Given the description of an element on the screen output the (x, y) to click on. 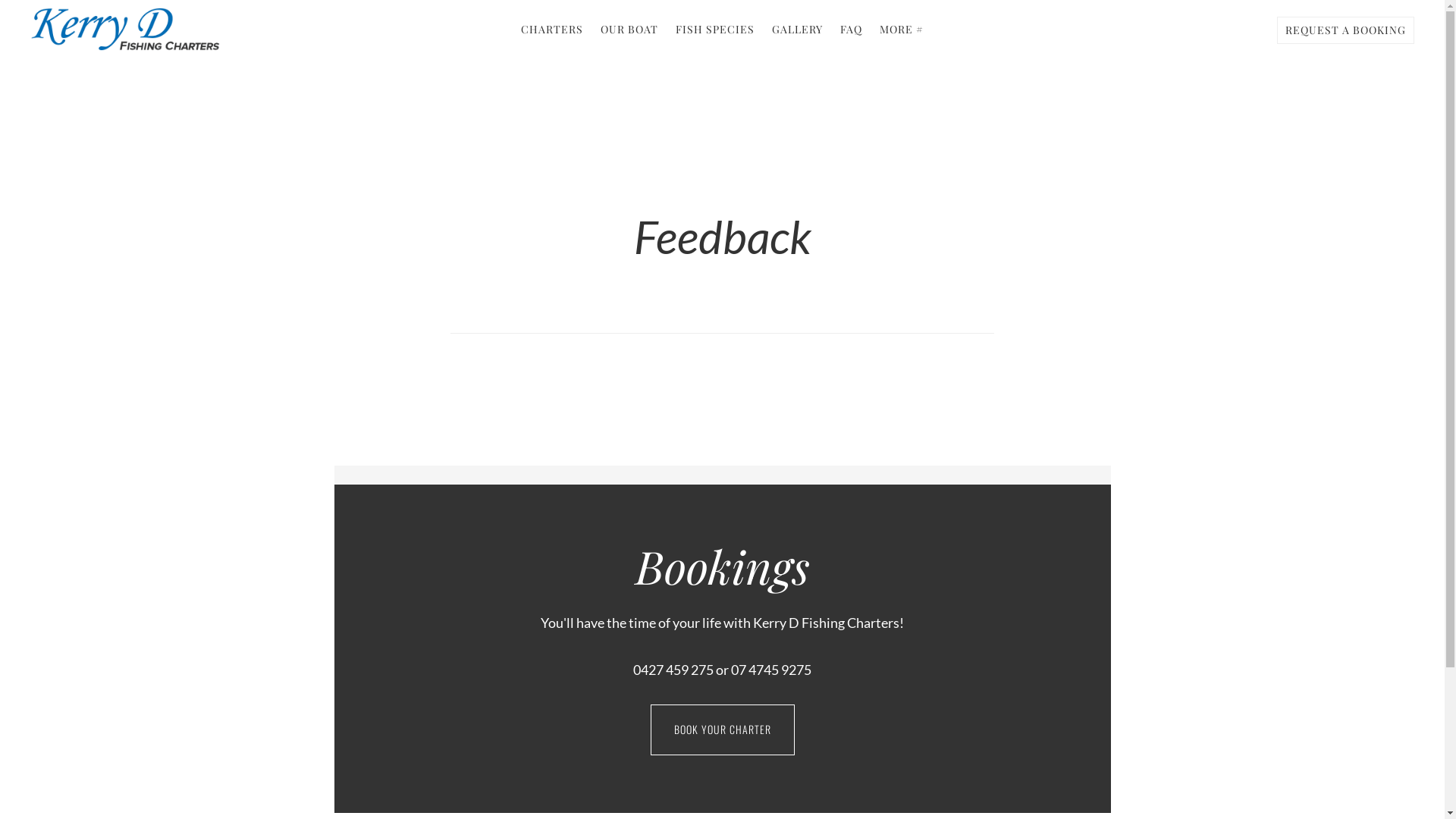
FAQ Element type: text (850, 29)
GALLERY Element type: text (797, 29)
CHARTERS Element type: text (551, 29)
Skip to primary navigation Element type: text (0, 0)
MORE # Element type: text (901, 29)
FISH SPECIES Element type: text (715, 29)
07 4745 9275 Element type: text (771, 669)
KERRY D FISHING CHARTERS Element type: text (124, 28)
OUR BOAT Element type: text (629, 29)
REQUEST A BOOKING Element type: text (1345, 29)
0427 459 275 Element type: text (673, 669)
BOOK YOUR CHARTER Element type: text (722, 729)
